Given the description of an element on the screen output the (x, y) to click on. 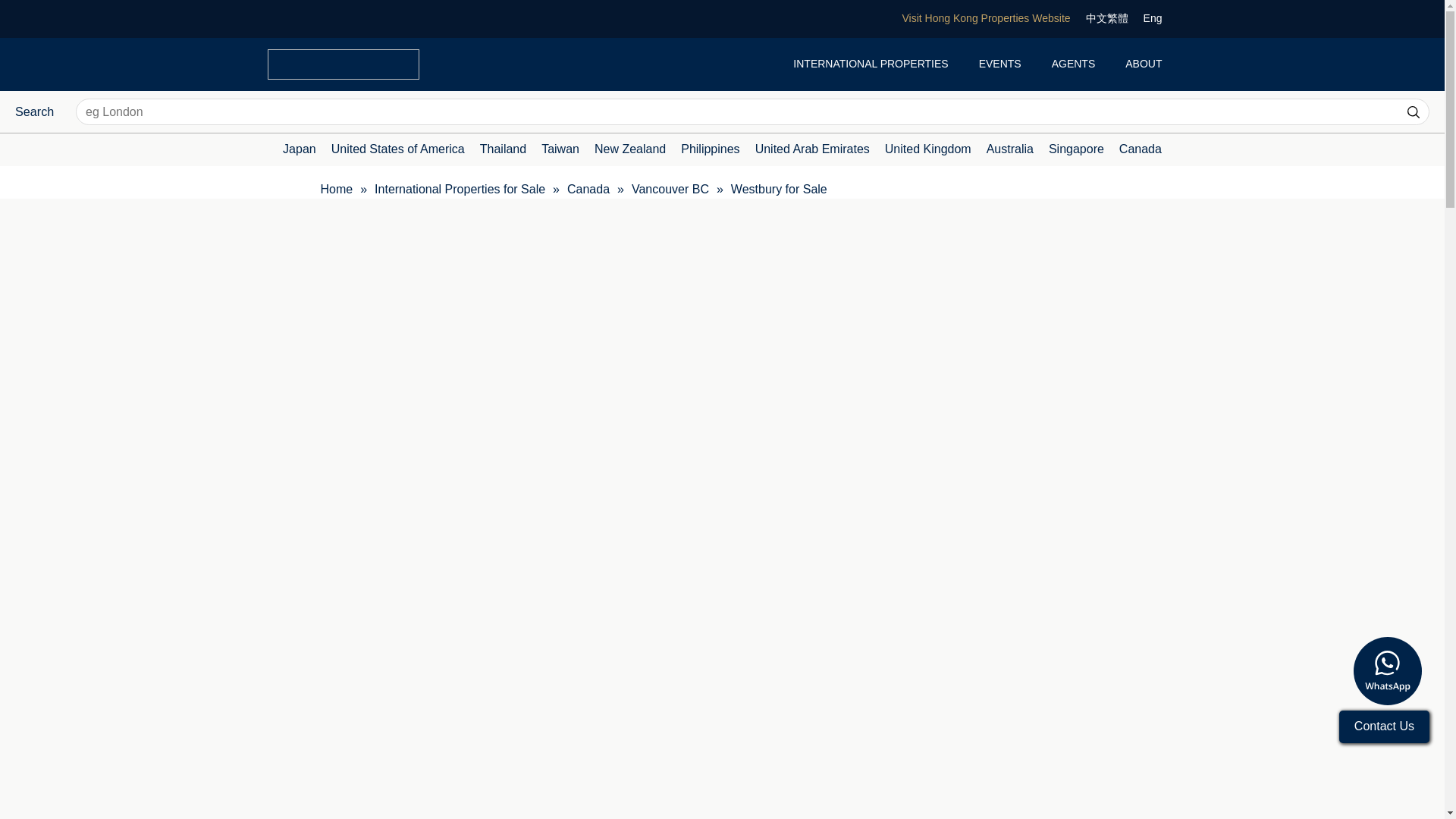
Australia (1010, 148)
EVENTS (1000, 64)
Canada (1140, 148)
Japan (298, 148)
United States of America (397, 148)
Philippines (710, 148)
International Properties for Sale (459, 189)
Visit Hong Kong Properties Website (986, 18)
New Zealand (629, 148)
Singapore (1075, 148)
Vancouver BC (670, 189)
AGENTS (1073, 64)
Canada (588, 189)
Home (336, 189)
United Kingdom (928, 148)
